Given the description of an element on the screen output the (x, y) to click on. 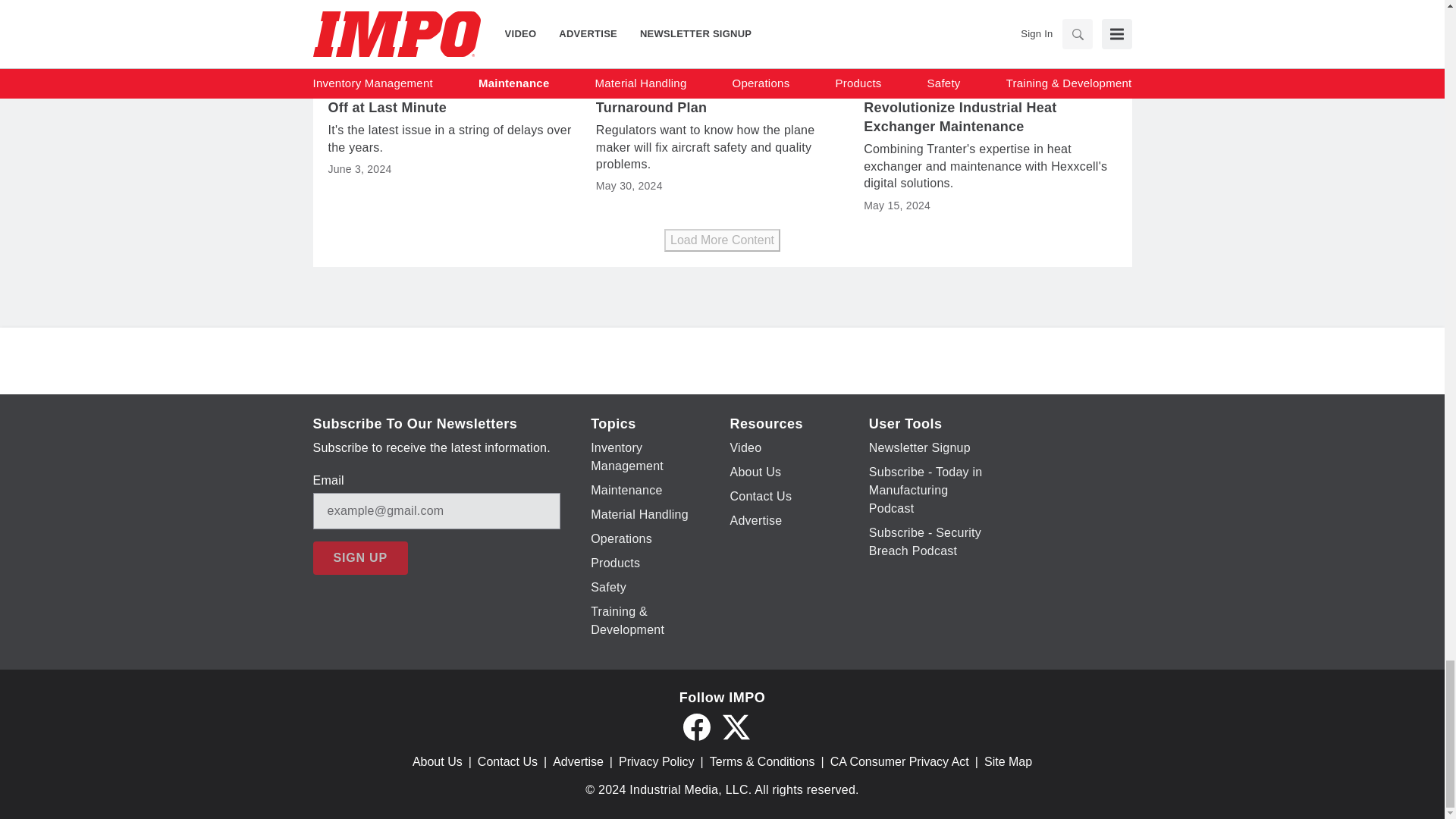
Twitter X icon (735, 727)
Facebook icon (696, 727)
